Given the description of an element on the screen output the (x, y) to click on. 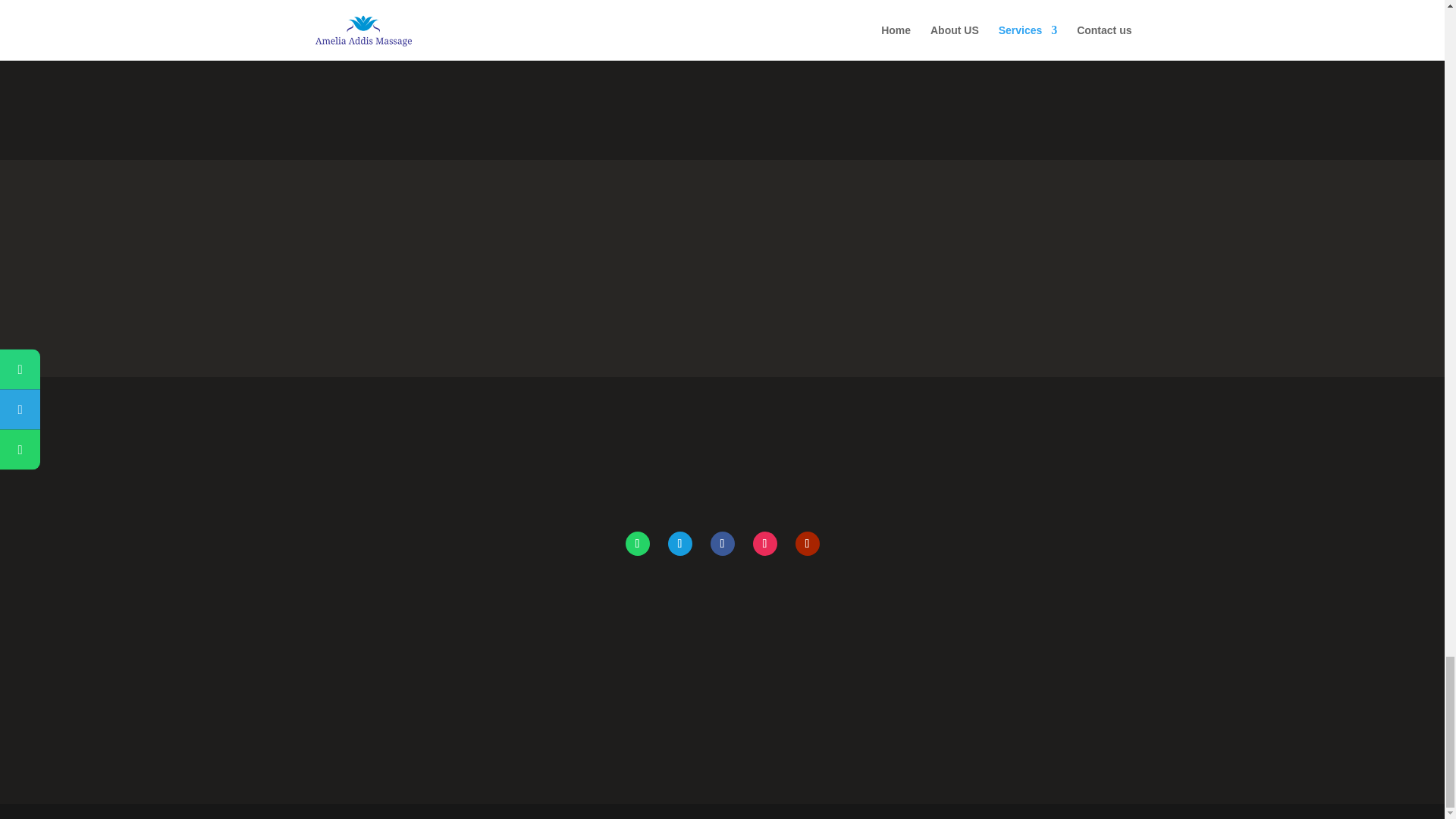
Follow on Telegram (678, 543)
Follow on Instagram (764, 543)
Follow on Facebook (721, 543)
Follow on Youtube (806, 543)
Follow on WhatsApp (636, 543)
